Given the description of an element on the screen output the (x, y) to click on. 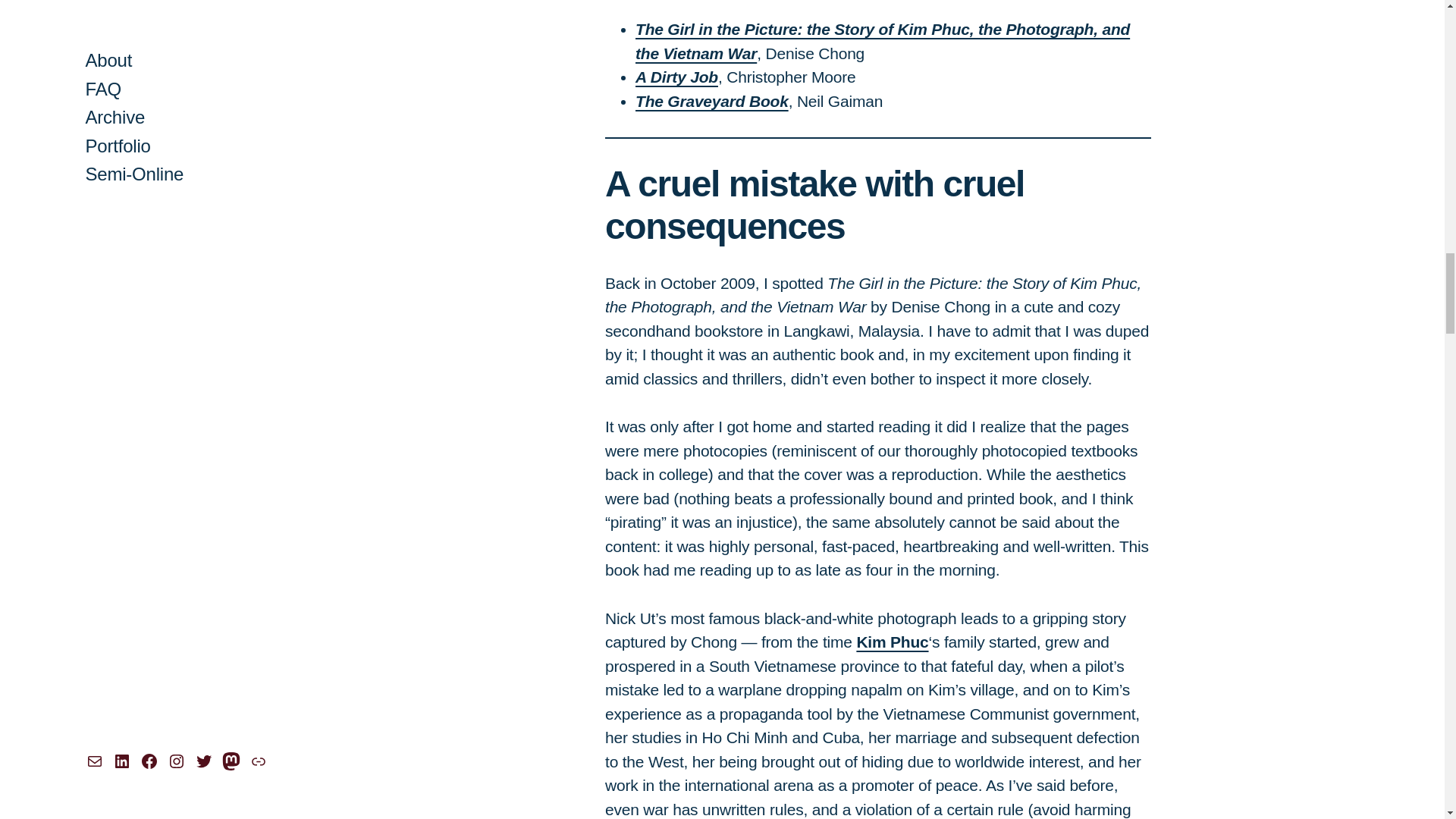
The Graveyard Book (711, 100)
Kim Phuc (892, 641)
A Dirty Job (675, 76)
